Given the description of an element on the screen output the (x, y) to click on. 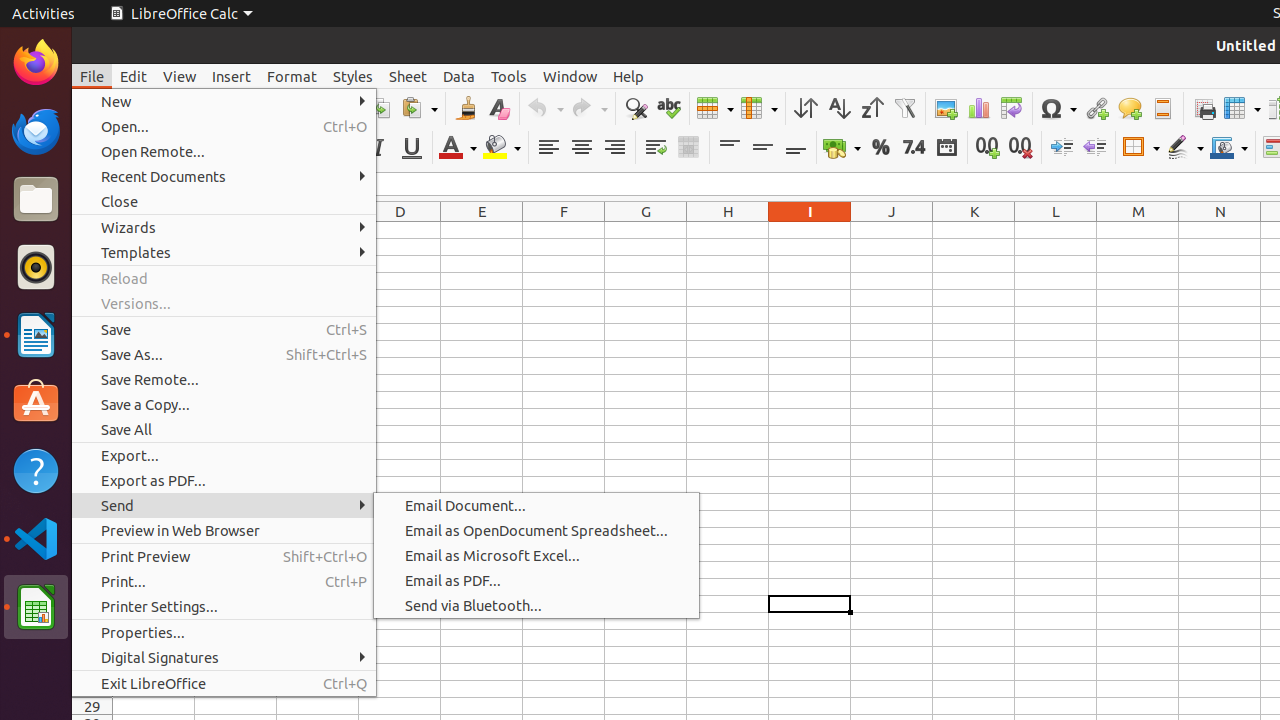
Email as PDF... Element type: menu-item (536, 580)
Tools Element type: menu (509, 76)
Export... Element type: menu-item (224, 455)
Freeze Rows and Columns Element type: push-button (1242, 108)
View Element type: menu (179, 76)
